Given the description of an element on the screen output the (x, y) to click on. 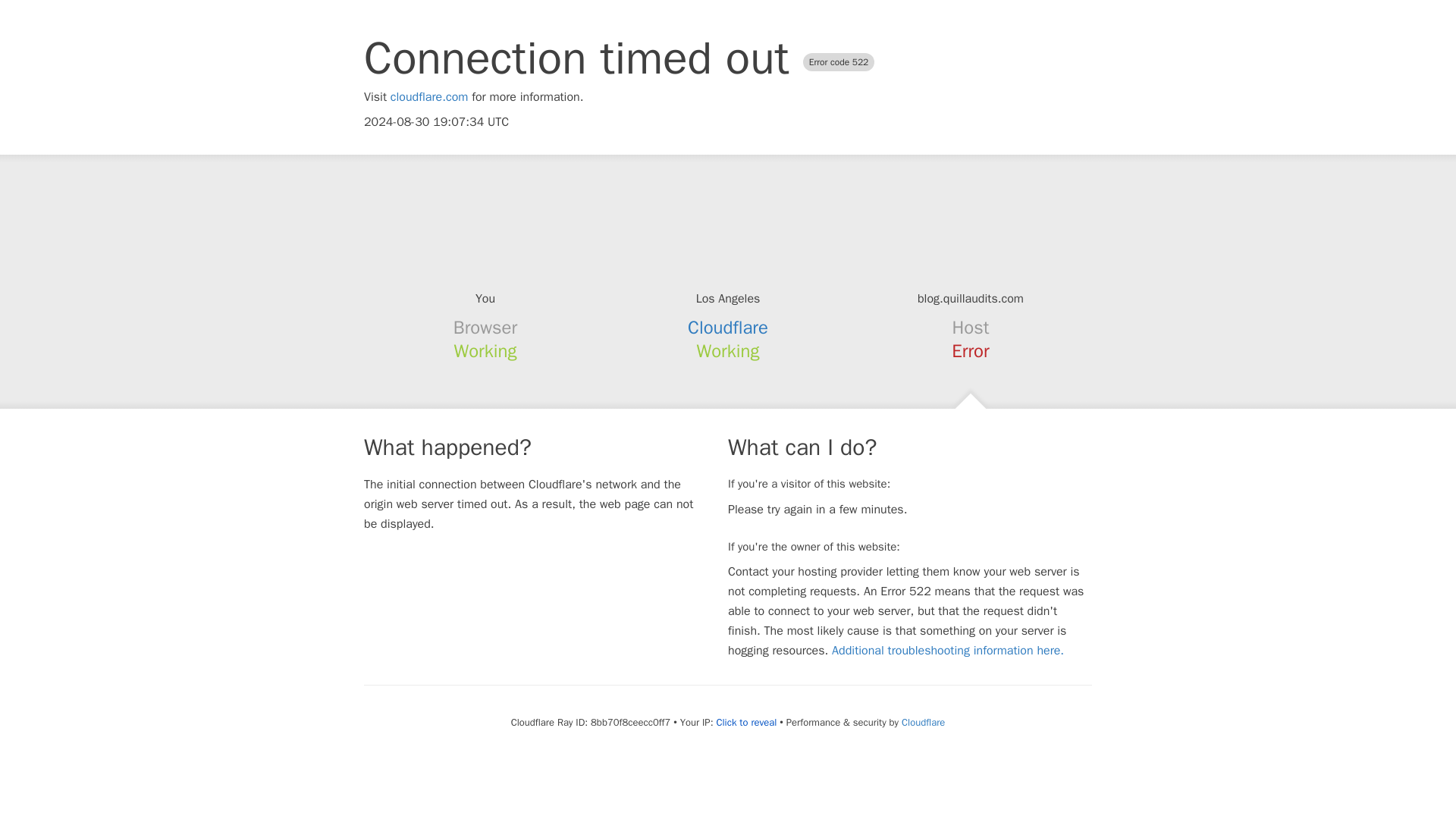
Cloudflare (922, 721)
Additional troubleshooting information here. (947, 650)
Click to reveal (746, 722)
Cloudflare (727, 327)
cloudflare.com (429, 96)
